Given the description of an element on the screen output the (x, y) to click on. 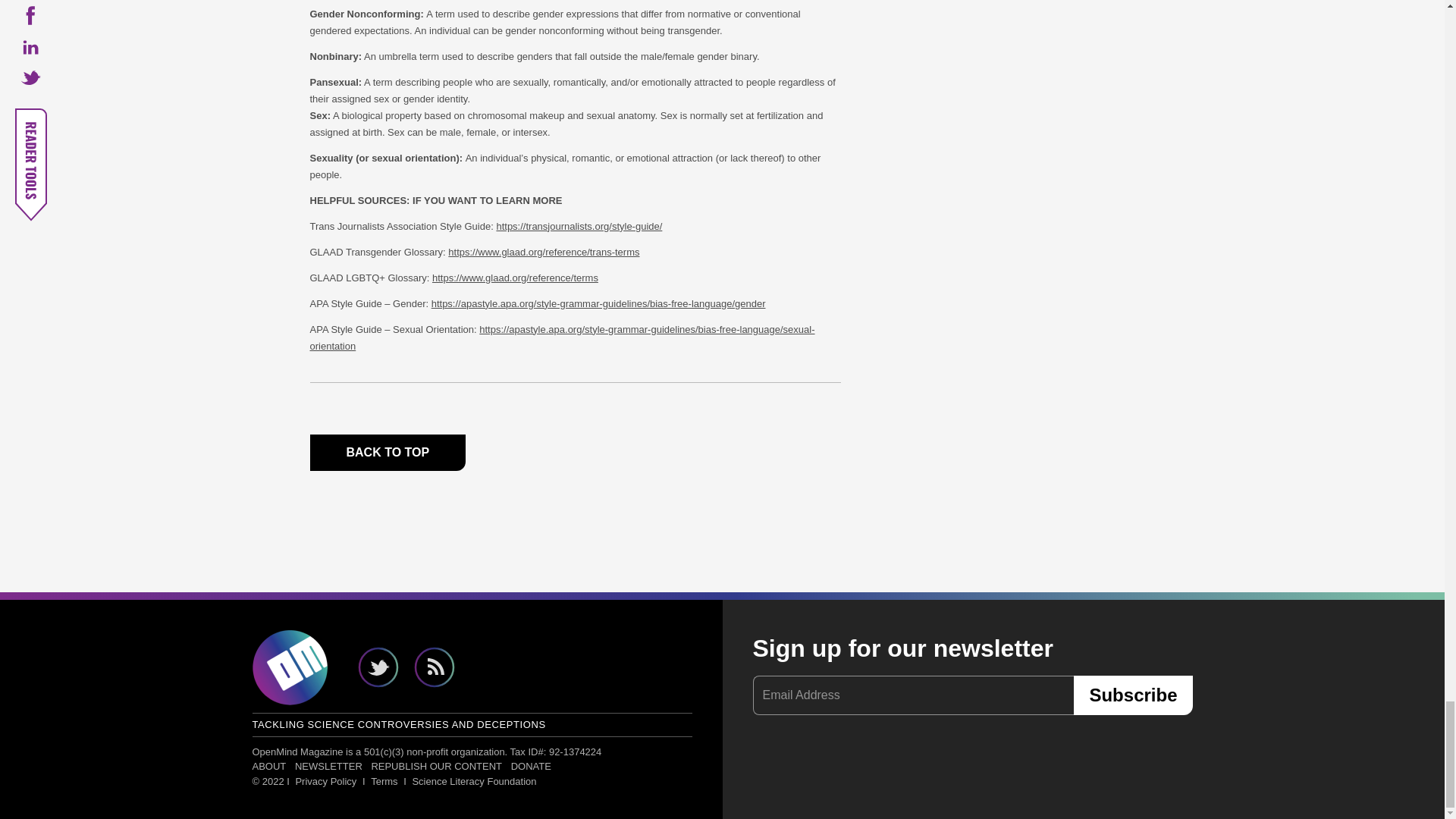
DONATE (531, 766)
REPUBLISH OUR CONTENT (436, 766)
BACK TO TOP (386, 452)
Subscribe (1133, 694)
Privacy Policy (325, 781)
Terms (384, 781)
NEWSLETTER (328, 766)
ABOUT (269, 766)
